Given the description of an element on the screen output the (x, y) to click on. 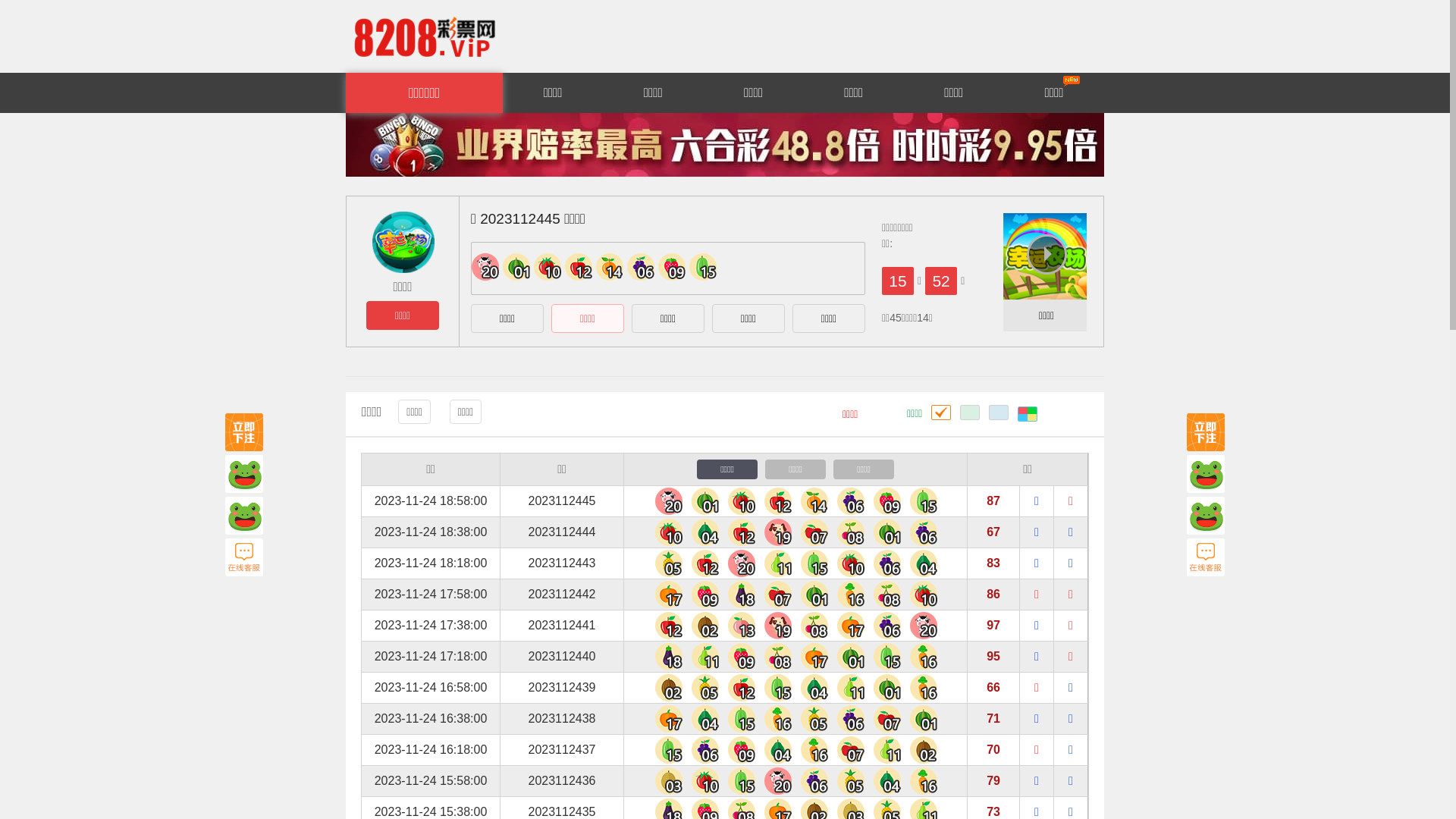
  Element type: text (1027, 413)
